Given the description of an element on the screen output the (x, y) to click on. 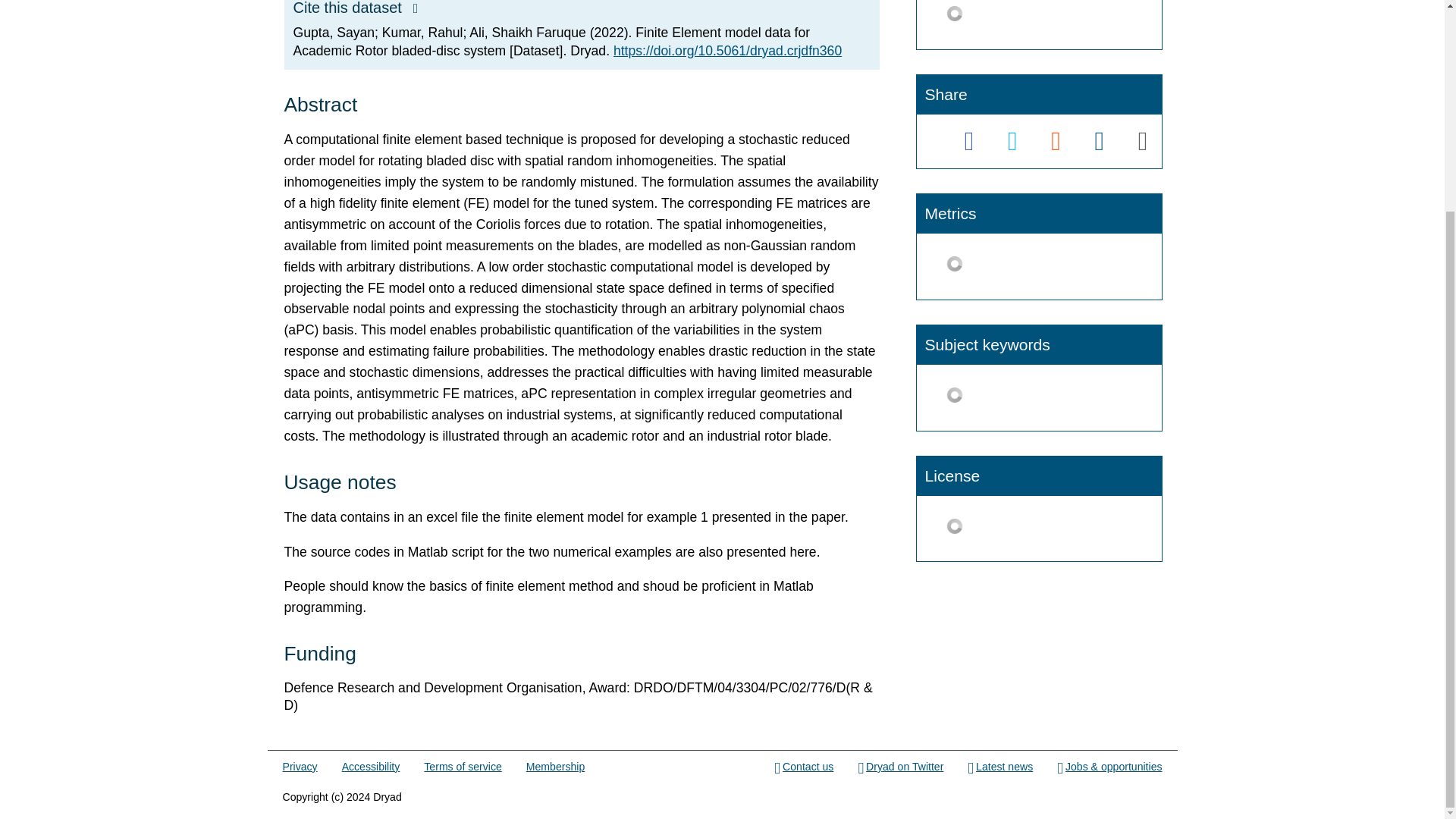
Accessibility (371, 767)
Membership (555, 767)
Terms of service (461, 767)
Privacy (299, 767)
Contact us (803, 767)
